Given the description of an element on the screen output the (x, y) to click on. 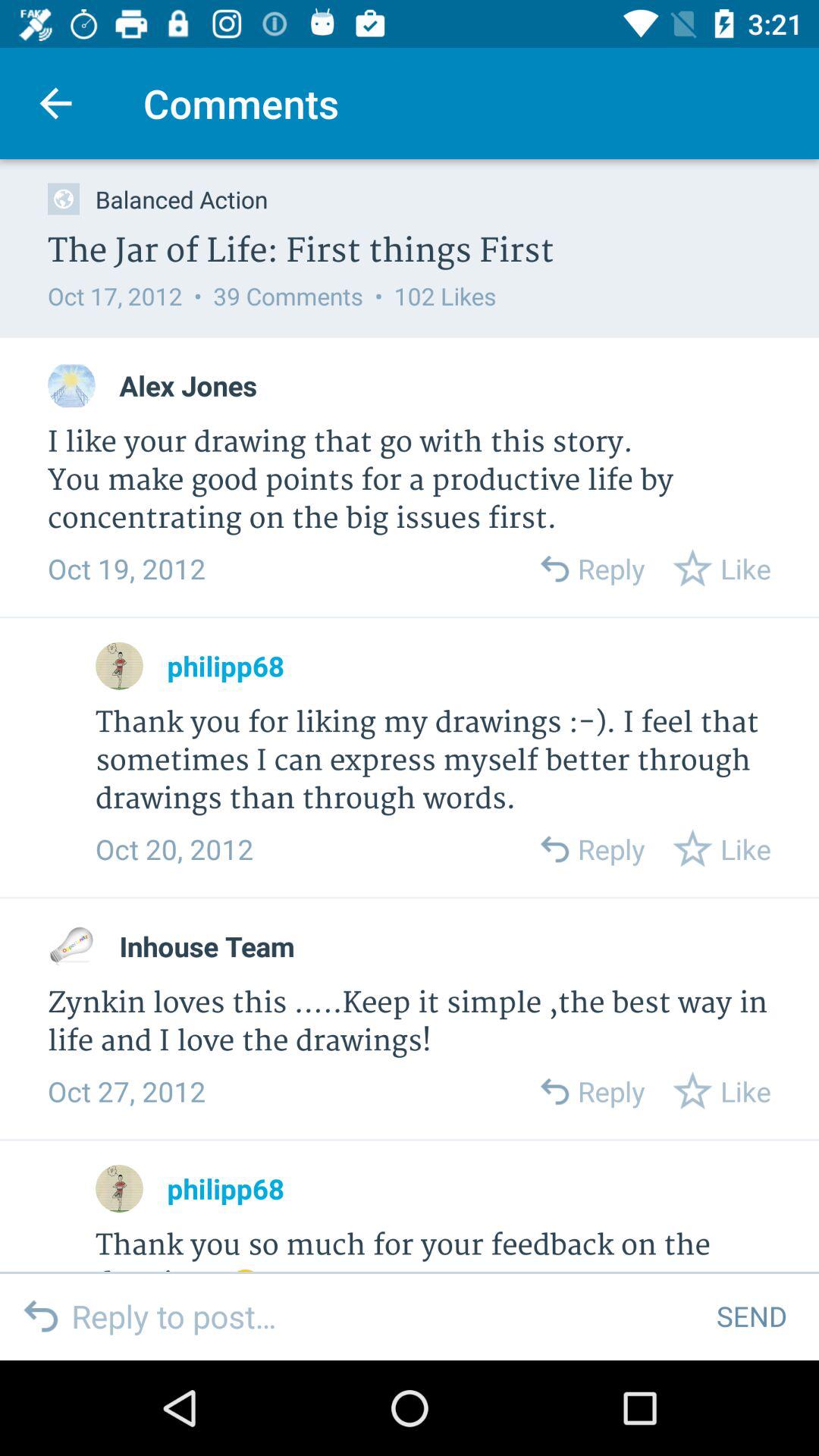
forward (553, 1091)
